Given the description of an element on the screen output the (x, y) to click on. 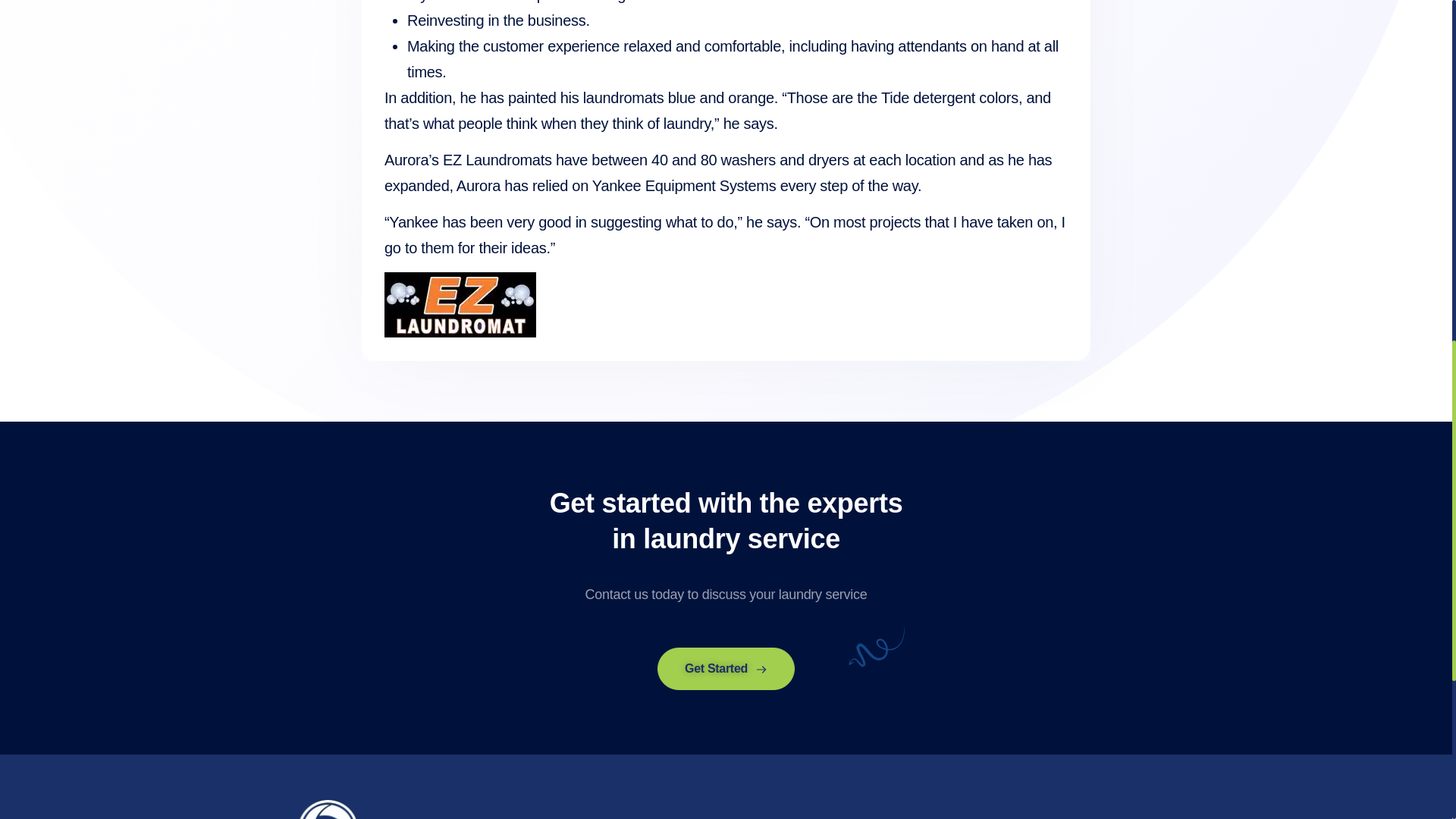
Get Started (726, 668)
